Given the description of an element on the screen output the (x, y) to click on. 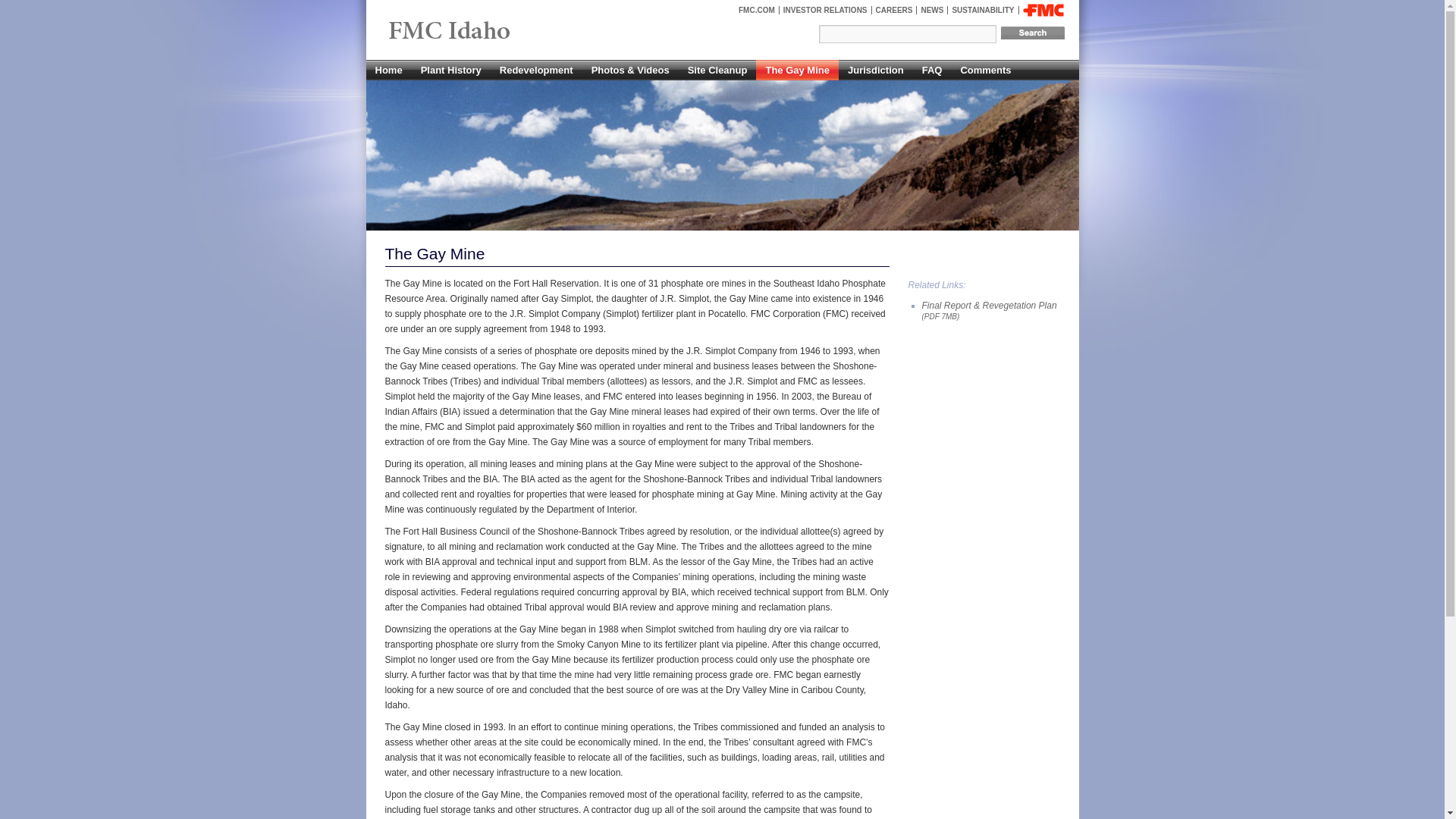
INVESTOR RELATIONS (825, 9)
SUSTAINABILITY (982, 9)
CAREERS (894, 9)
FMC CORPORATION (1043, 10)
Home (387, 69)
FMC Pocatello, Idaho (484, 31)
Comments (985, 69)
FMC.COM (756, 9)
NEWS (932, 9)
Plant History (451, 69)
Jurisdiction (875, 69)
FMC Pocatello, Idaho (484, 31)
Redevelopment (536, 69)
FAQ (932, 69)
Site Cleanup (717, 69)
